Given the description of an element on the screen output the (x, y) to click on. 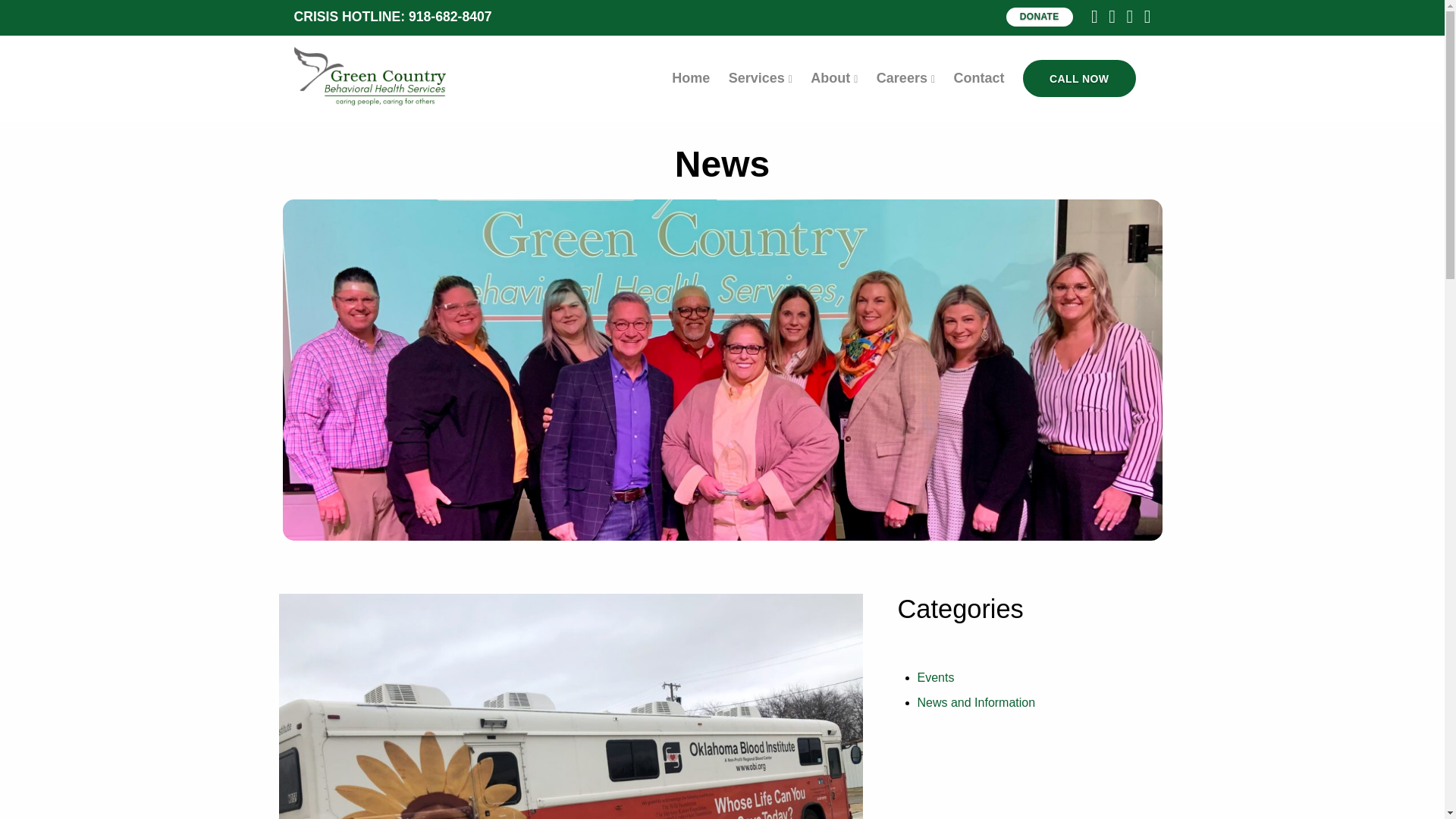
9186828407 (1079, 78)
Home (690, 77)
Events (936, 676)
Careers (905, 77)
DONATE (1039, 16)
918-682-8407 (450, 16)
CALL NOW (1079, 78)
Contact (978, 77)
Services (760, 77)
About (833, 77)
